Given the description of an element on the screen output the (x, y) to click on. 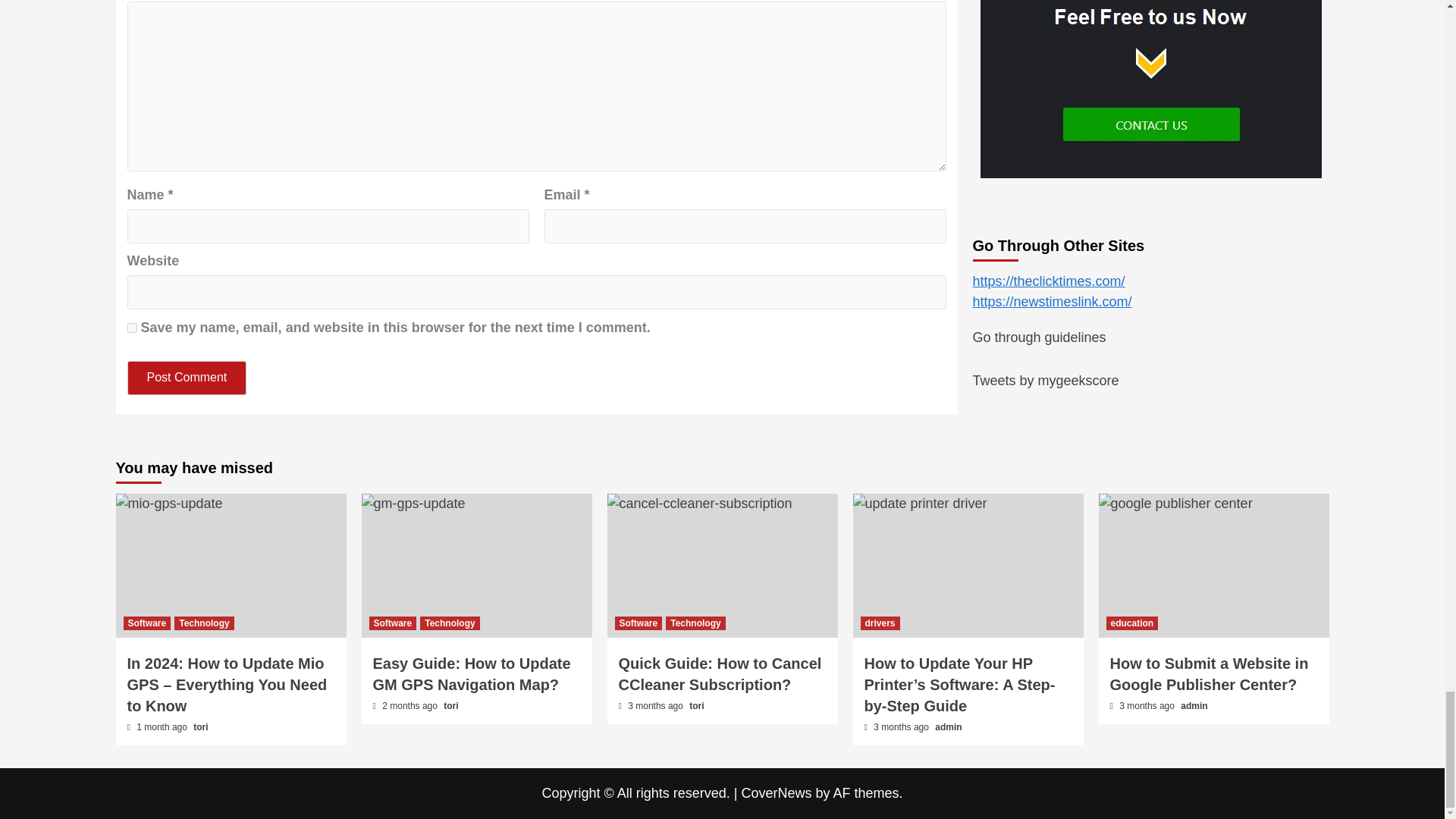
Post Comment (187, 377)
yes (132, 327)
